Given the description of an element on the screen output the (x, y) to click on. 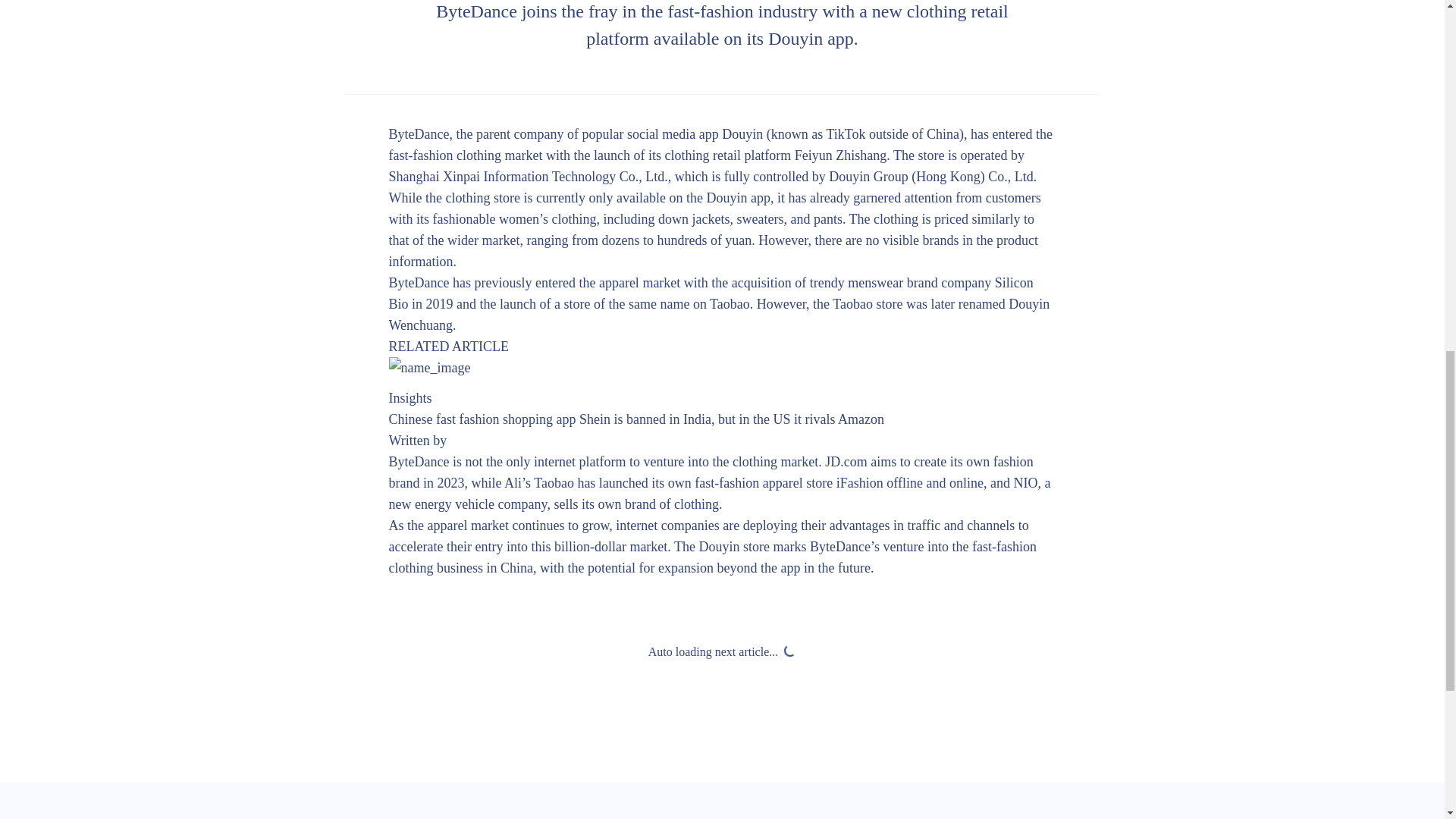
the apparel market (628, 282)
Douyin app (738, 197)
Insights (409, 397)
